Given the description of an element on the screen output the (x, y) to click on. 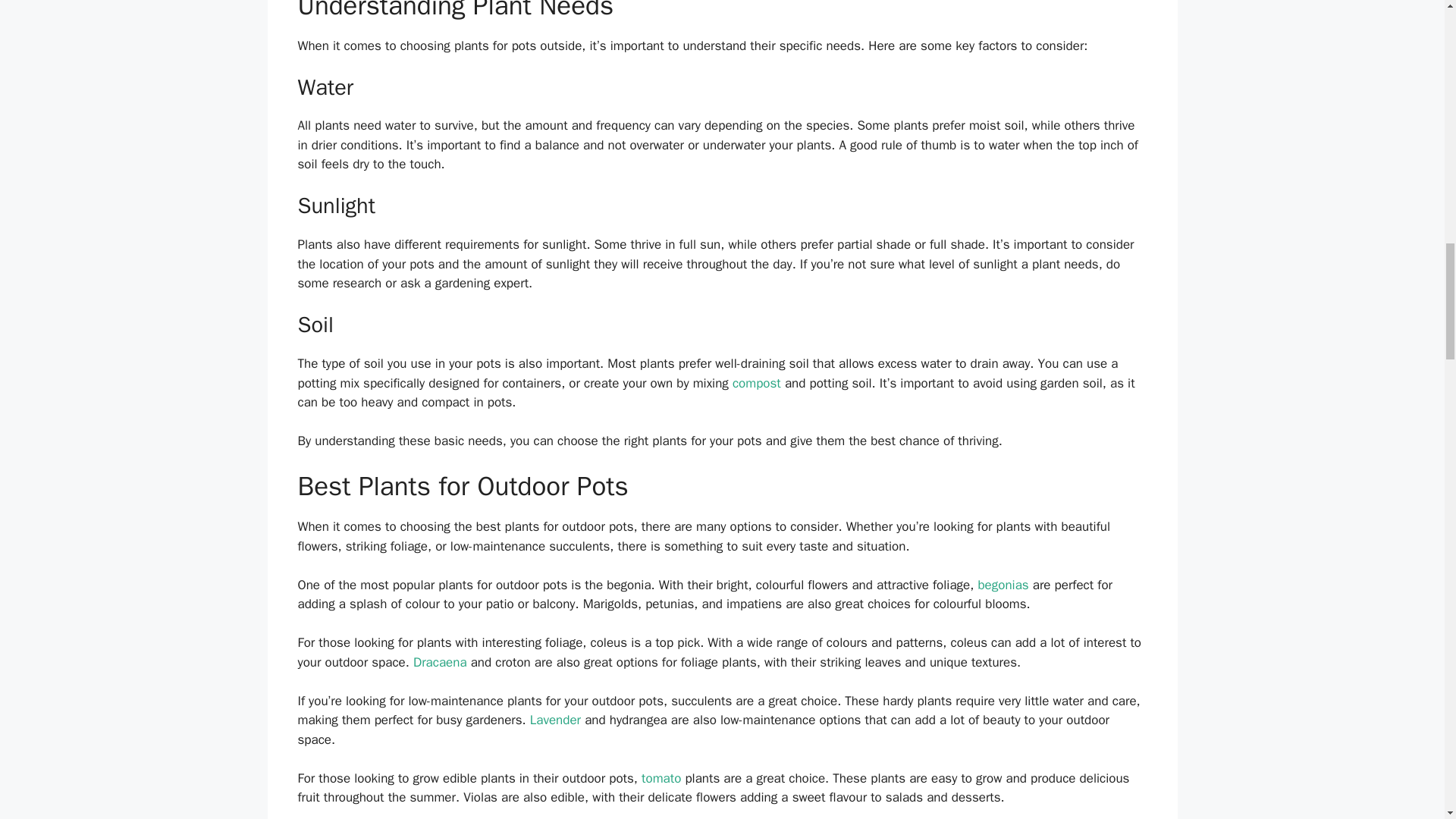
tomato (661, 778)
Lavender (554, 719)
begonias (1001, 584)
Dracaena (440, 662)
compost (756, 383)
